Given the description of an element on the screen output the (x, y) to click on. 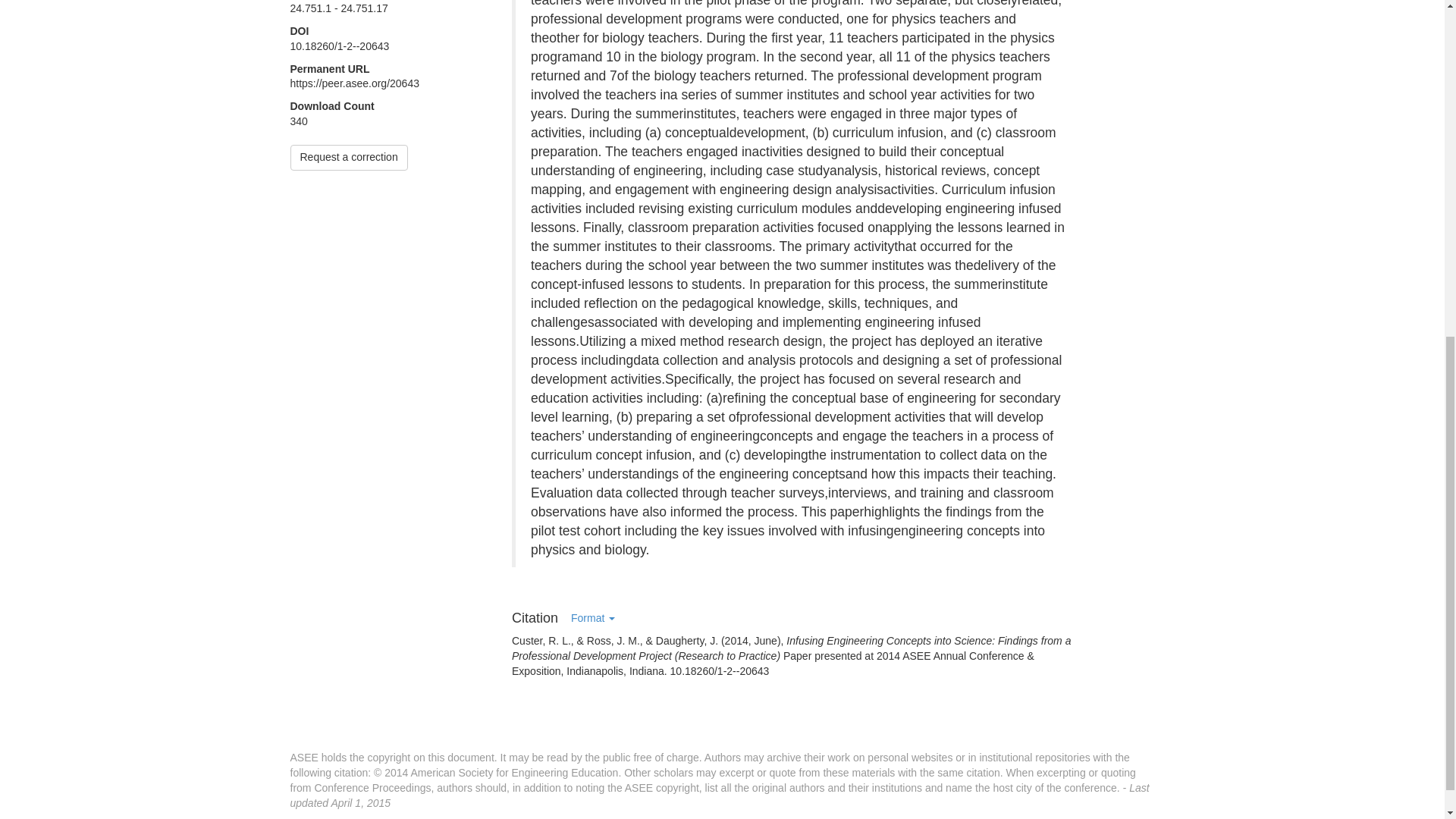
Request a correction (348, 157)
Format (592, 618)
